Given the description of an element on the screen output the (x, y) to click on. 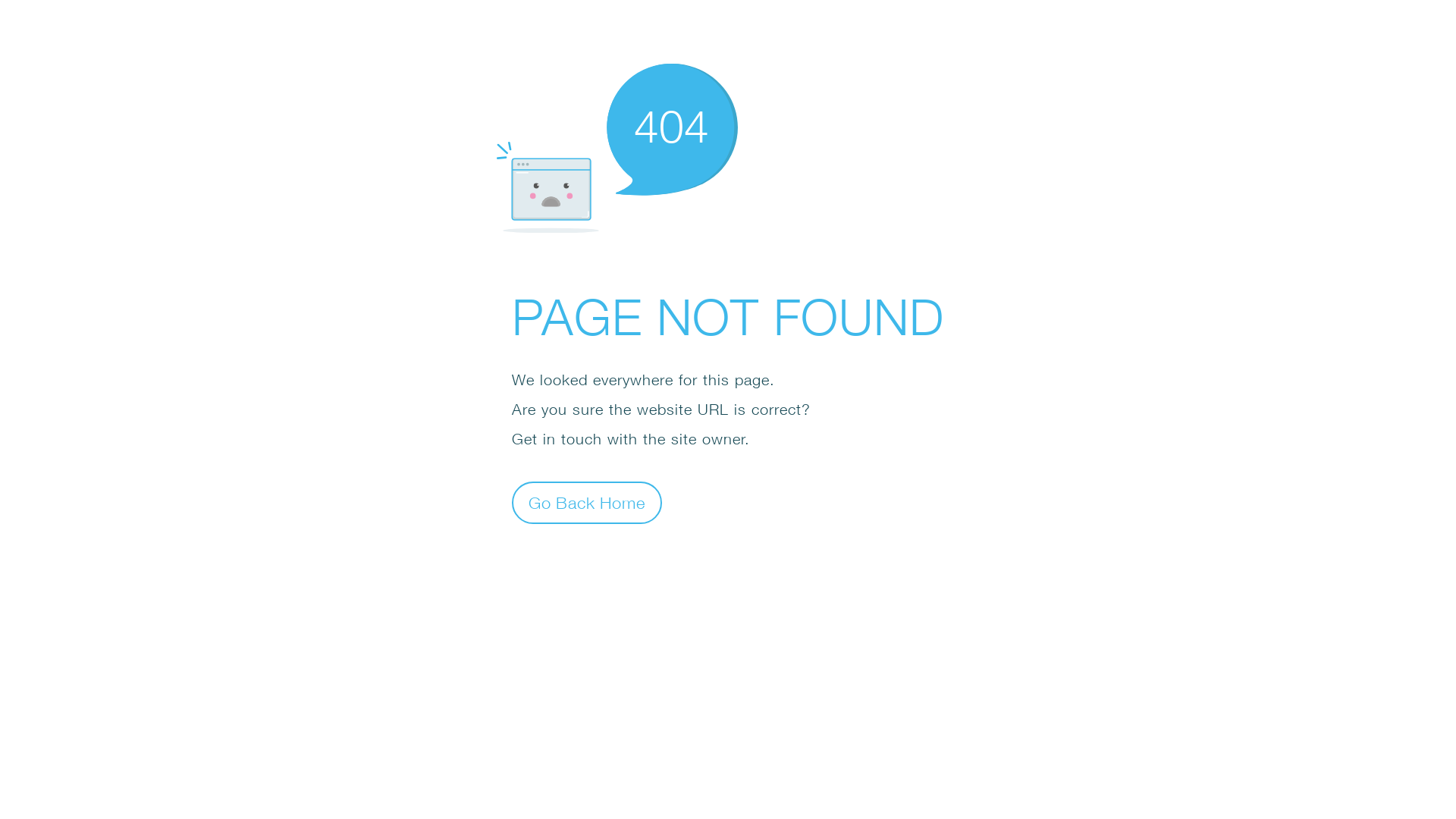
Go Back Home Element type: text (586, 502)
